Given the description of an element on the screen output the (x, y) to click on. 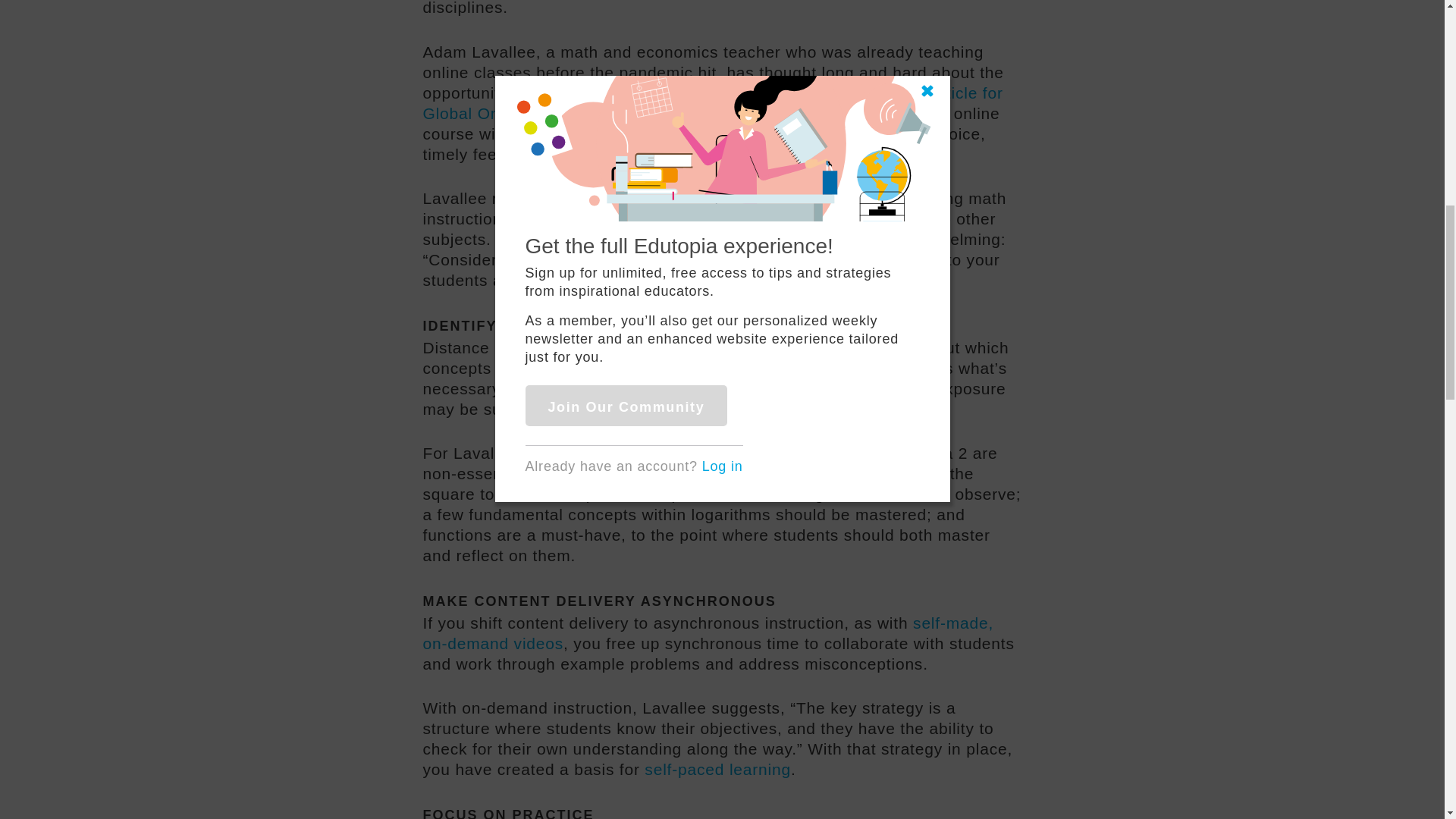
an article for Global Online Academy (713, 103)
self-paced learning (717, 769)
self-made, on-demand videos (708, 632)
